Given the description of an element on the screen output the (x, y) to click on. 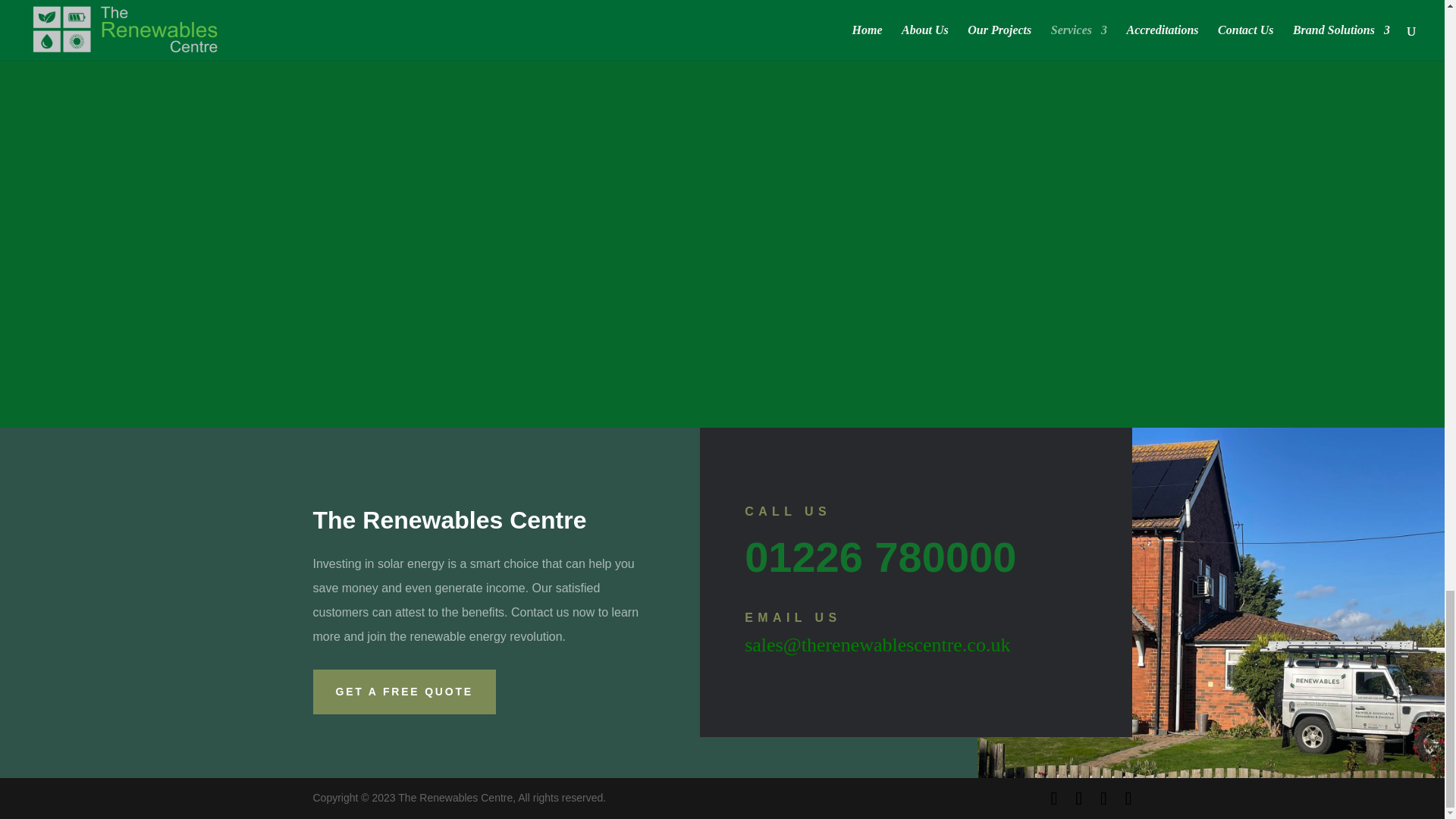
GET A FREE QUOTE (404, 691)
